Given the description of an element on the screen output the (x, y) to click on. 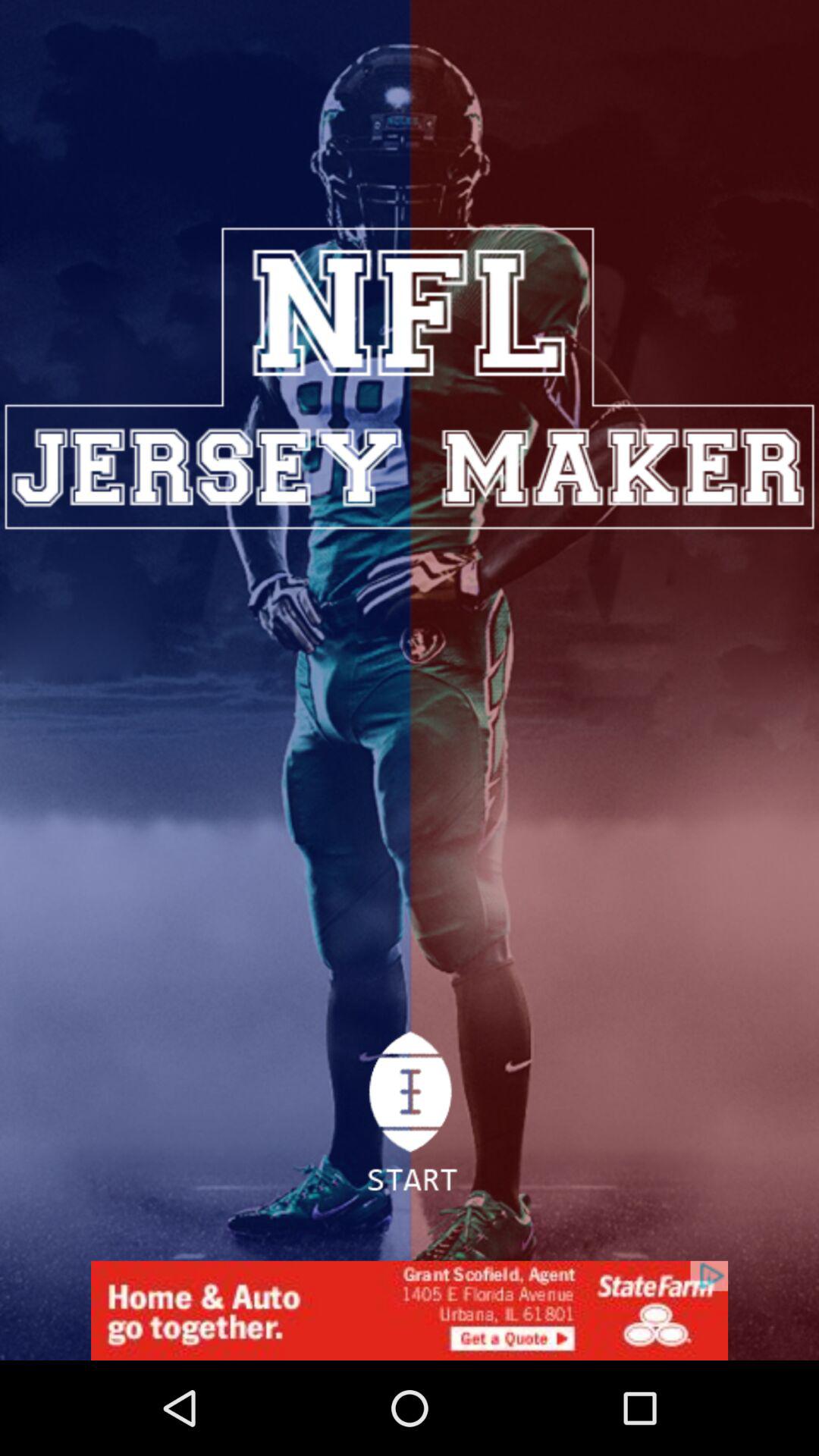
select the start button (408, 1120)
